Given the description of an element on the screen output the (x, y) to click on. 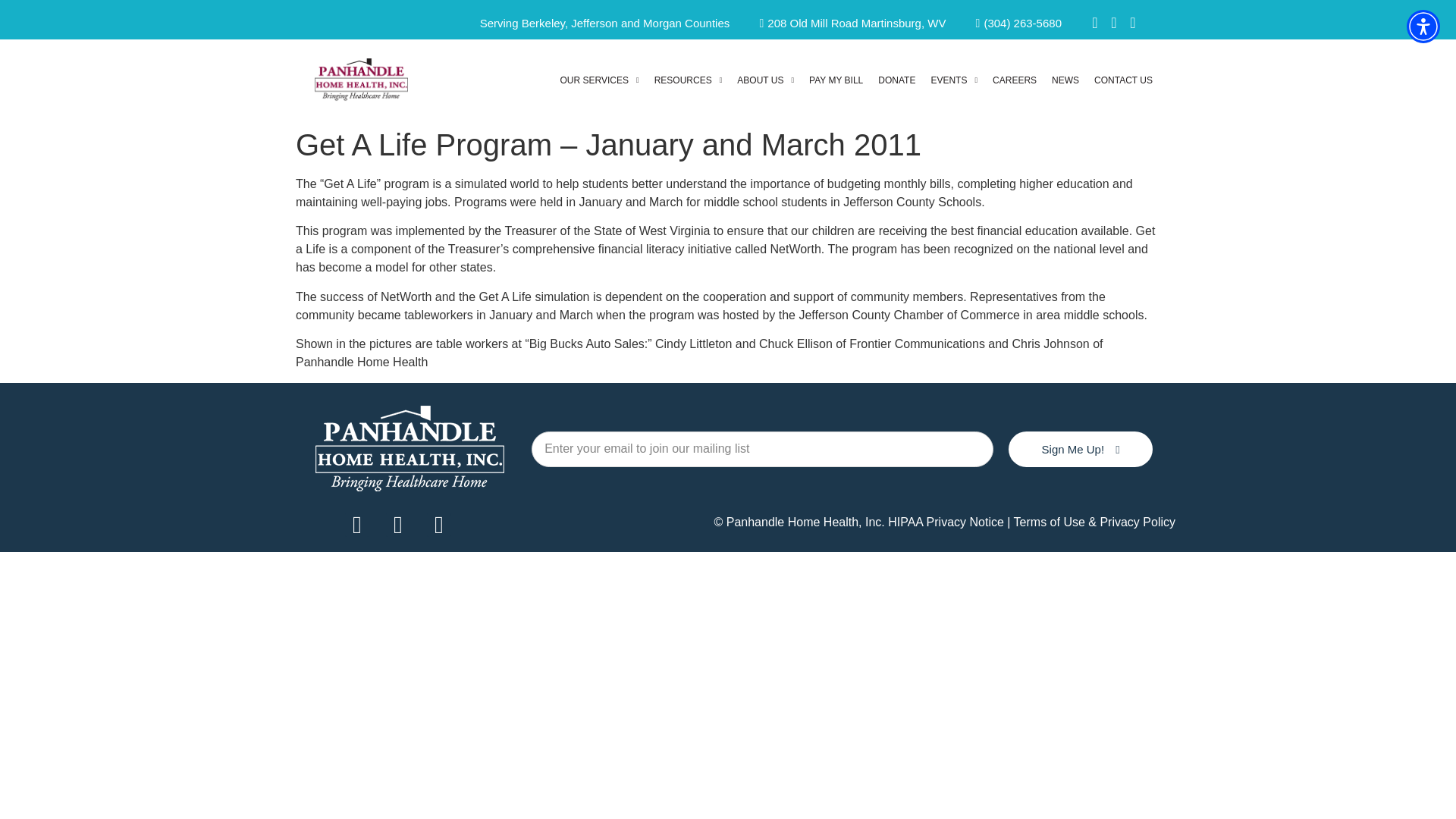
RESOURCES (688, 80)
PAY MY BILL (836, 80)
CAREERS (1014, 80)
OUR SERVICES (599, 80)
208 Old Mill Road Martinsburg, WV (846, 23)
EVENTS (954, 80)
NEWS (1064, 80)
Accessibility Menu (1422, 26)
CONTACT US (1123, 80)
ABOUT US (765, 80)
DONATE (896, 80)
